Given the description of an element on the screen output the (x, y) to click on. 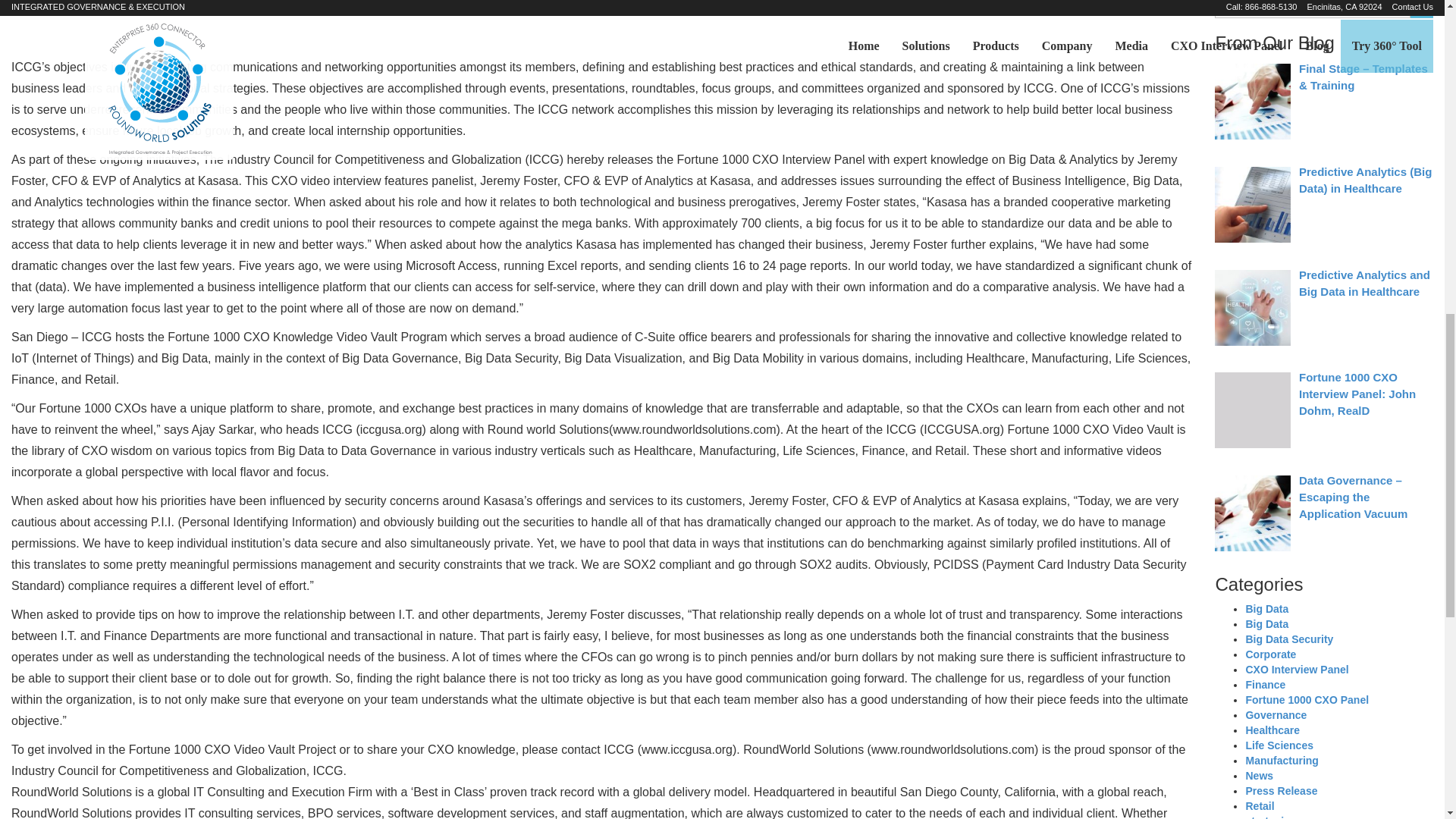
Healthcare (1272, 729)
Big Data (1266, 608)
Fortune 1000 CXO Interview Panel: John Dohm, RealD (1356, 393)
Big Data Security (1288, 639)
Retail (1259, 806)
Press Release (1280, 790)
Governance (1275, 715)
Predictive Analytics and Big Data in Healthcare (1363, 283)
News (1258, 775)
CXO Interview Panel (1296, 669)
Big Data (1266, 623)
Life Sciences (1278, 745)
Corporate (1269, 654)
Fortune 1000 CXO Panel (1306, 699)
Manufacturing (1280, 760)
